Given the description of an element on the screen output the (x, y) to click on. 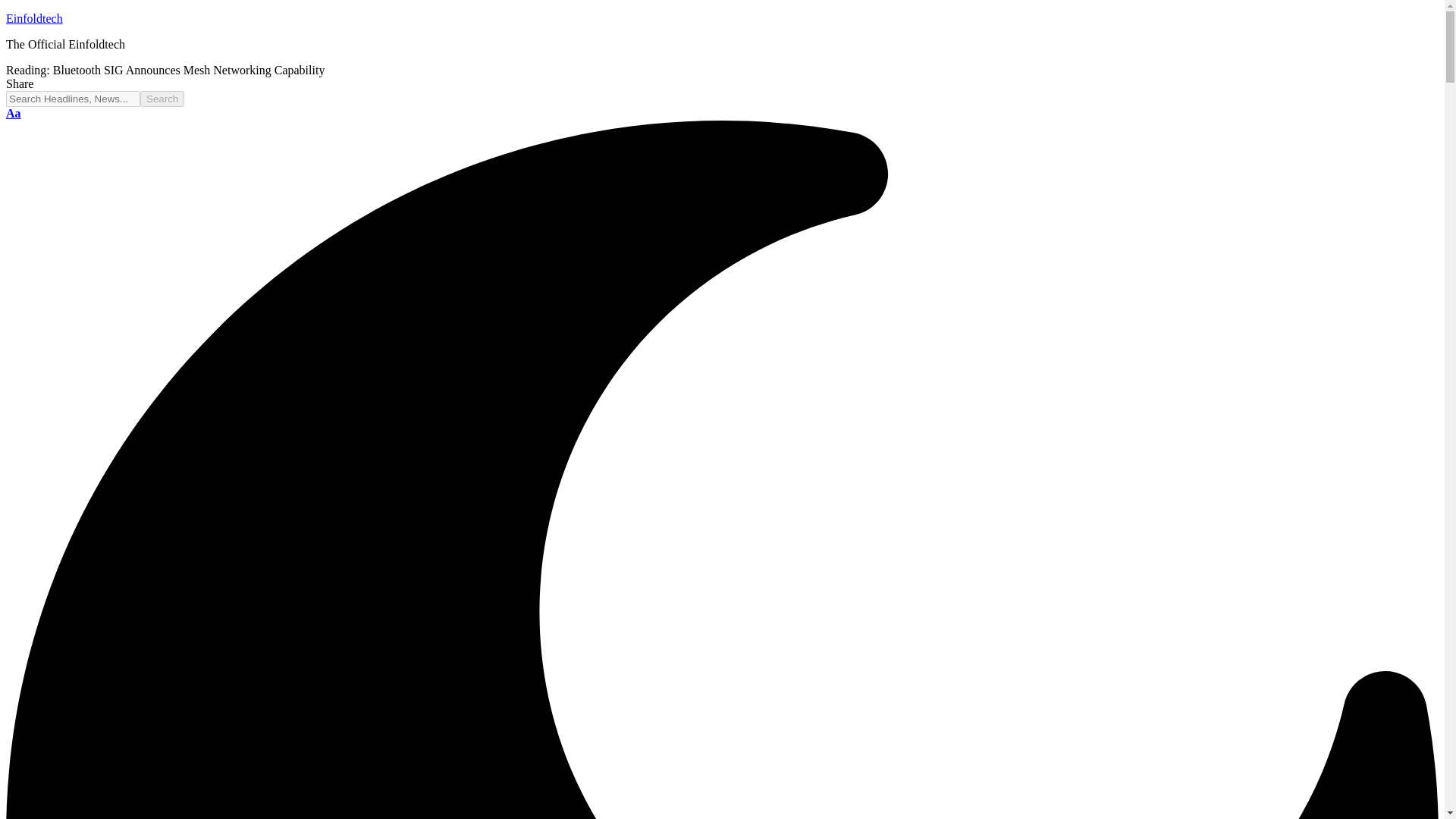
Einfoldtech (33, 18)
Search (161, 98)
Einfoldtech (33, 18)
Search (13, 113)
